Given the description of an element on the screen output the (x, y) to click on. 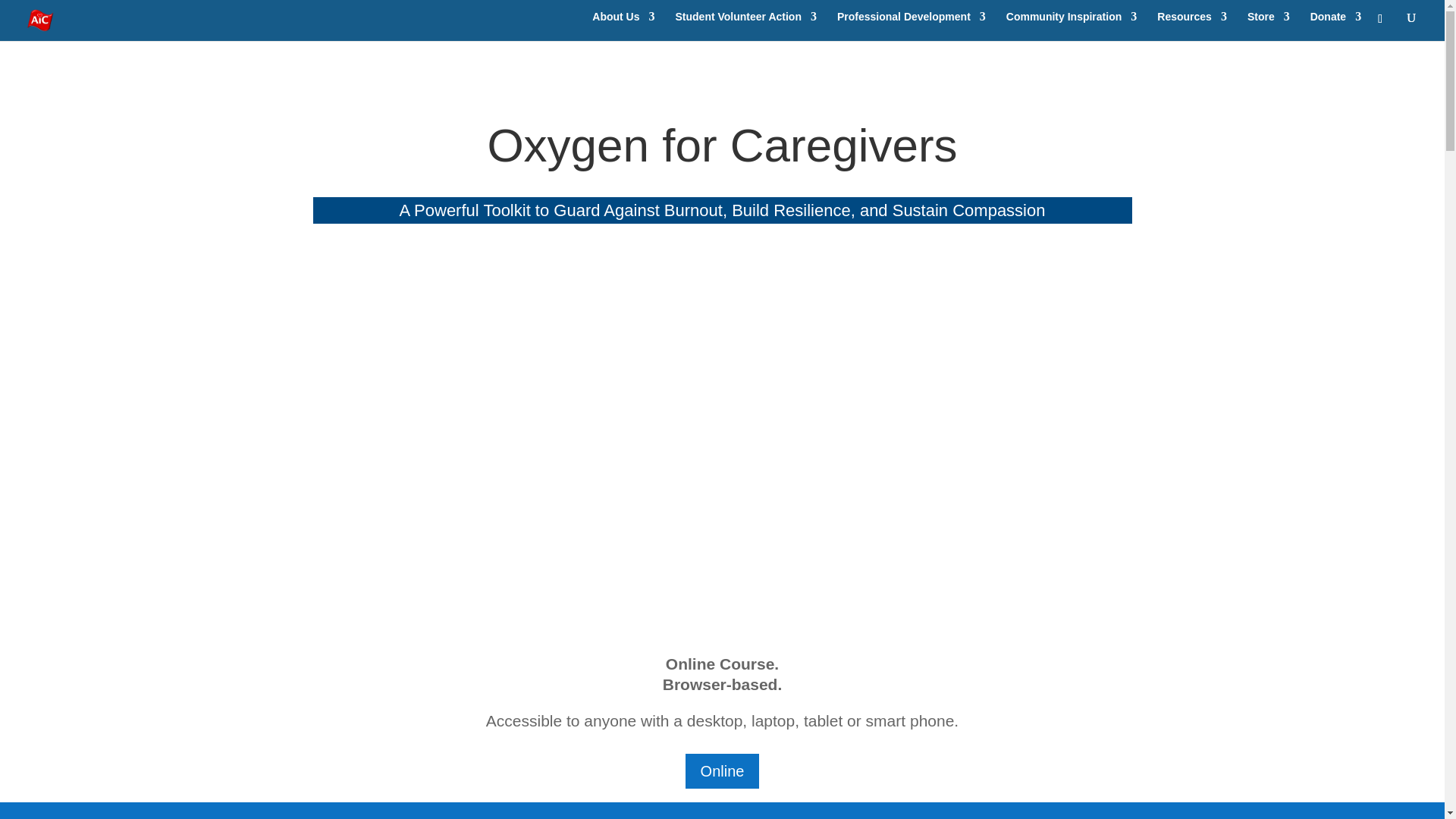
Professional Development (911, 22)
About Us (622, 22)
Student Volunteer Action (745, 22)
Community Inspiration (1071, 22)
